Given the description of an element on the screen output the (x, y) to click on. 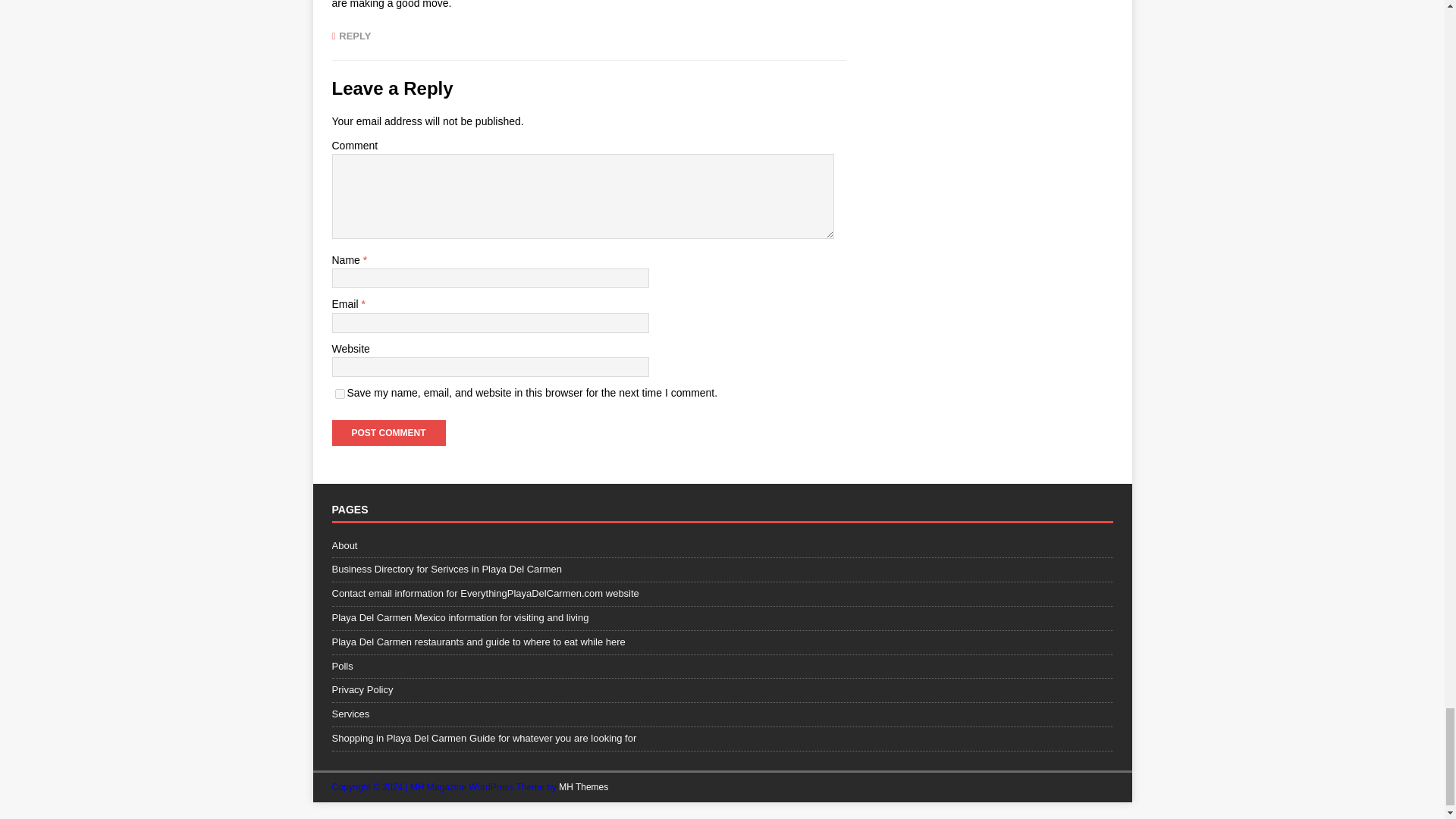
Post Comment (388, 432)
yes (339, 393)
